Given the description of an element on the screen output the (x, y) to click on. 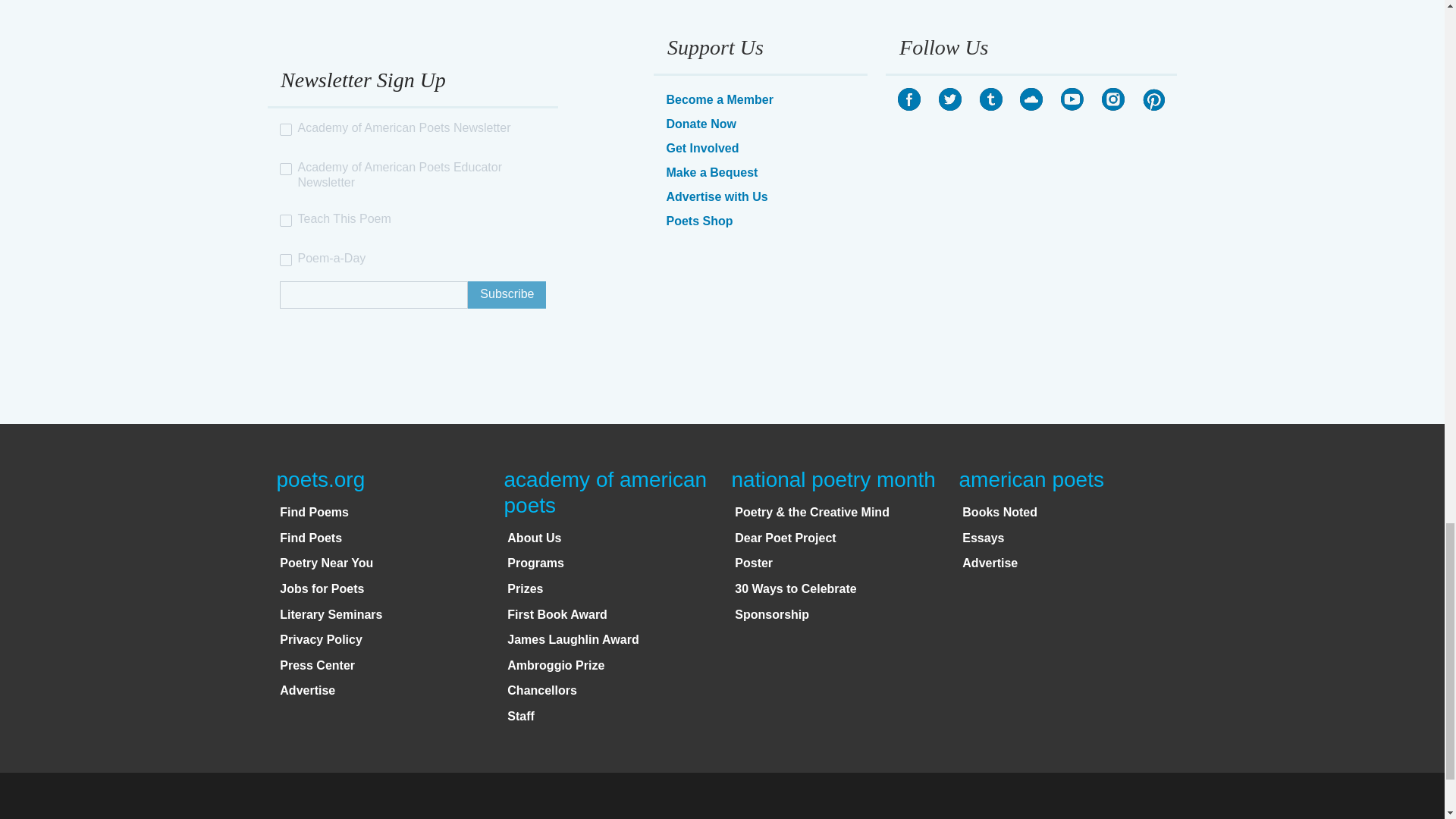
Subscribe (506, 294)
Privacy Policy (320, 639)
Jobs for Poets (321, 588)
Press Center (317, 665)
Literary Seminars (330, 614)
Poetry Near You (325, 562)
Subscribe (506, 294)
